Given the description of an element on the screen output the (x, y) to click on. 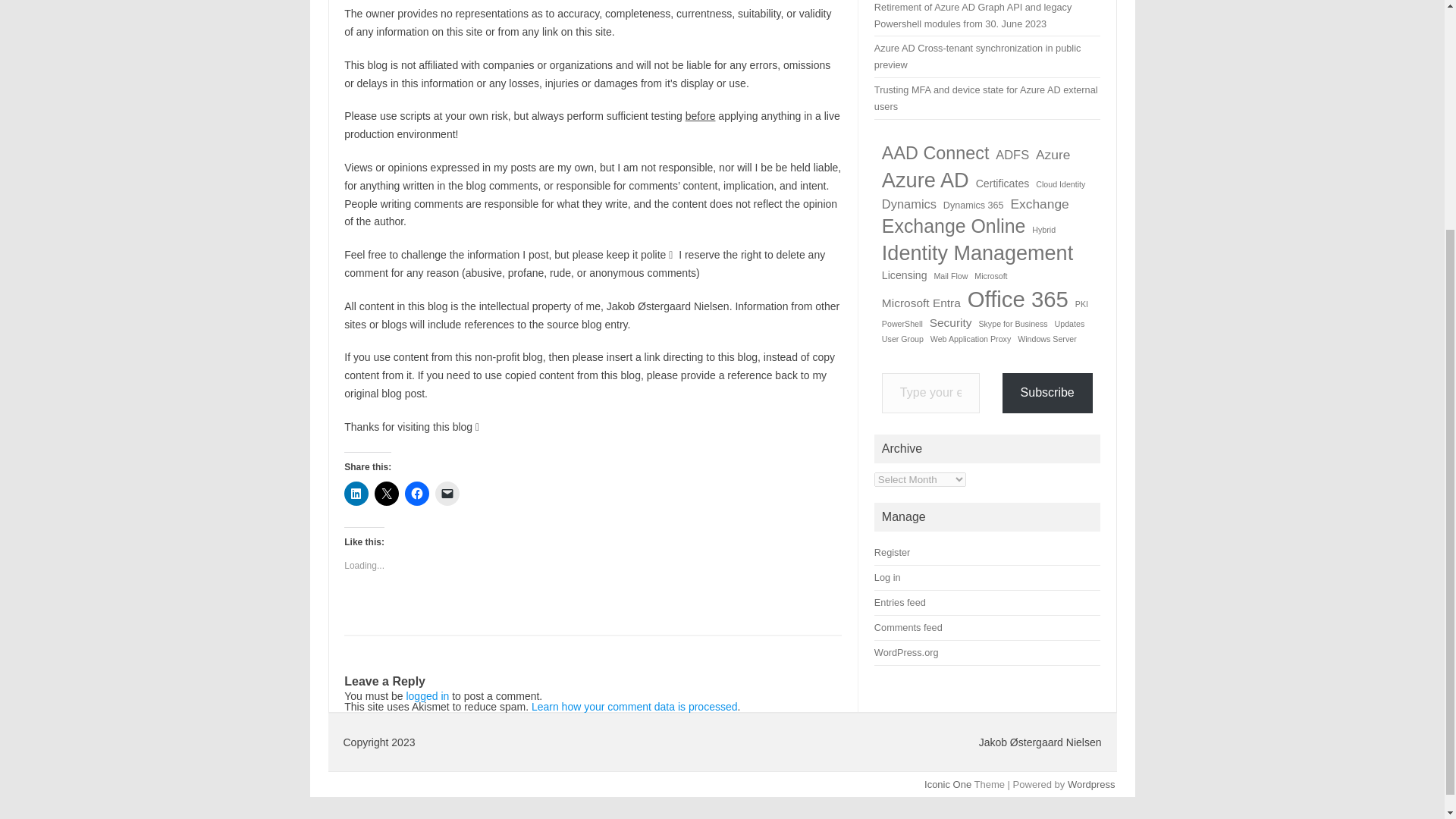
Cloud Identity (1059, 184)
Azure (1052, 154)
Click to share on X (386, 493)
Trusting MFA and device state for Azure AD external users (986, 98)
Dynamics 365 (973, 205)
Click to email a link to a friend (447, 493)
Click to share on LinkedIn (355, 493)
Learn how your comment data is processed (634, 706)
ADFS (1012, 154)
Certificates (1002, 183)
logged in (427, 695)
Identity Management (977, 253)
Microsoft (990, 276)
AAD Connect (936, 153)
Licensing (904, 275)
